Given the description of an element on the screen output the (x, y) to click on. 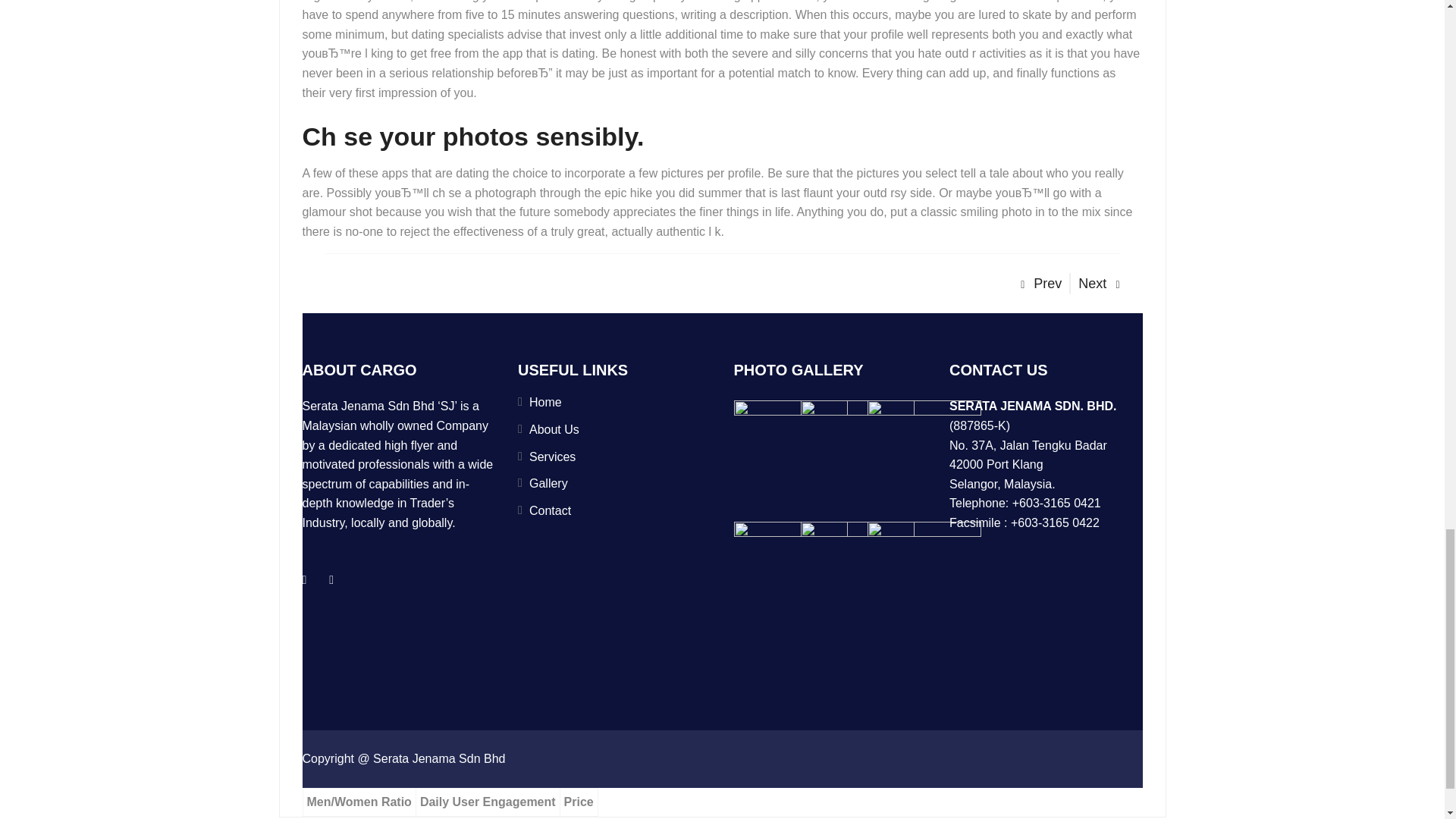
Contact (549, 510)
Facebook (304, 579)
About Us (554, 429)
Gallery (548, 482)
Prev (1040, 283)
Instagram (331, 579)
Next (1098, 283)
Services (552, 456)
Home (545, 401)
